Given the description of an element on the screen output the (x, y) to click on. 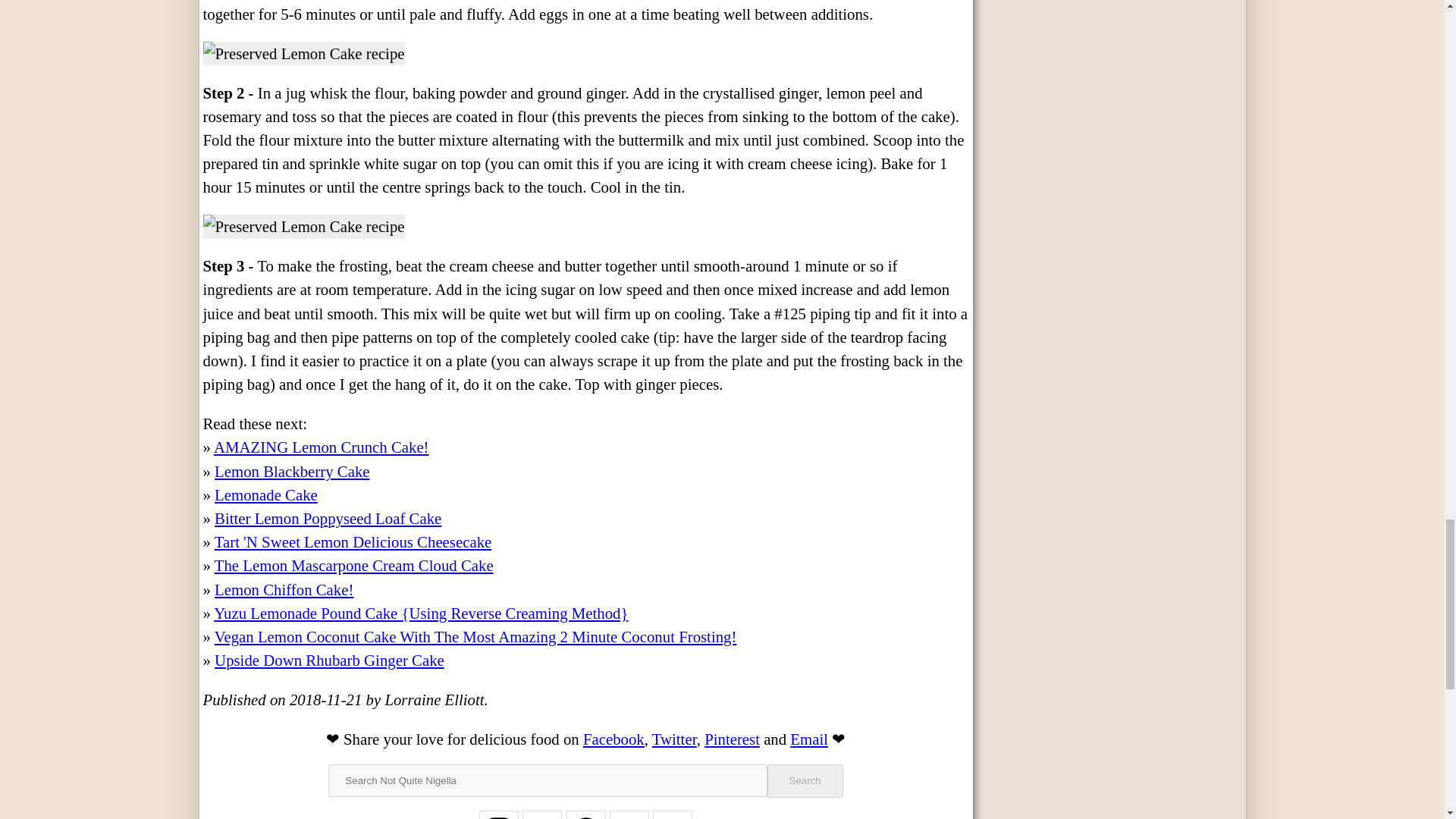
Upside Down Rhubarb Ginger Cake (329, 660)
Email (809, 738)
Twitter (674, 738)
Search (805, 780)
Search (805, 780)
Share on Facebook (614, 738)
Facebook (614, 738)
The Lemon Mascarpone Cream Cloud Cake (353, 565)
AMAZING Lemon Crunch Cake! (321, 446)
Tweet (674, 738)
